Given the description of an element on the screen output the (x, y) to click on. 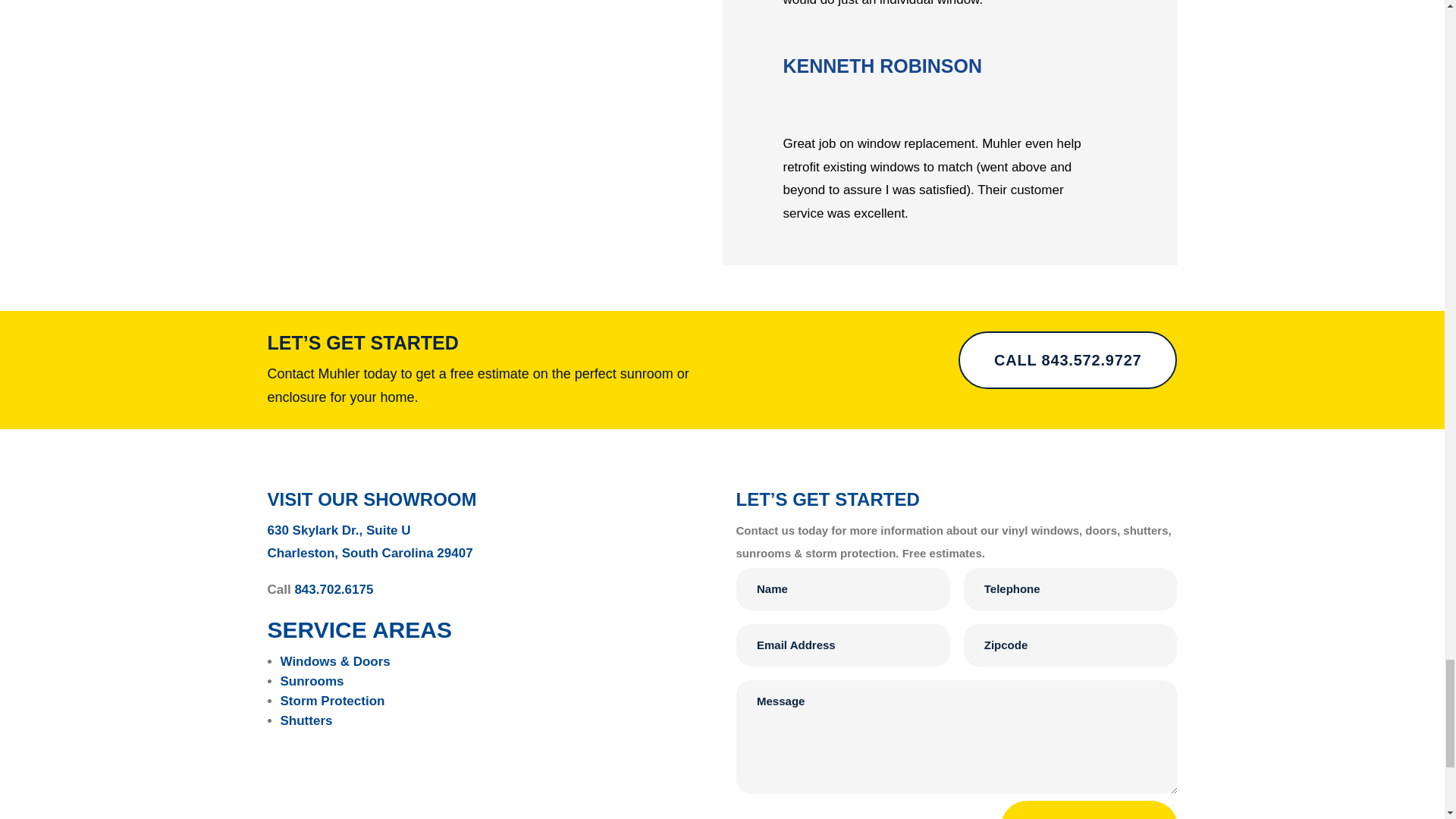
CALL 843.572.9727 (1067, 360)
630 Skylark Dr., Suite U (338, 530)
SEND MESSAGE (1089, 809)
Charleston, South Carolina 29407 (368, 553)
Shutters (307, 720)
Sunrooms (312, 681)
843.702.6175 (333, 589)
Storm Protection (333, 700)
